Given the description of an element on the screen output the (x, y) to click on. 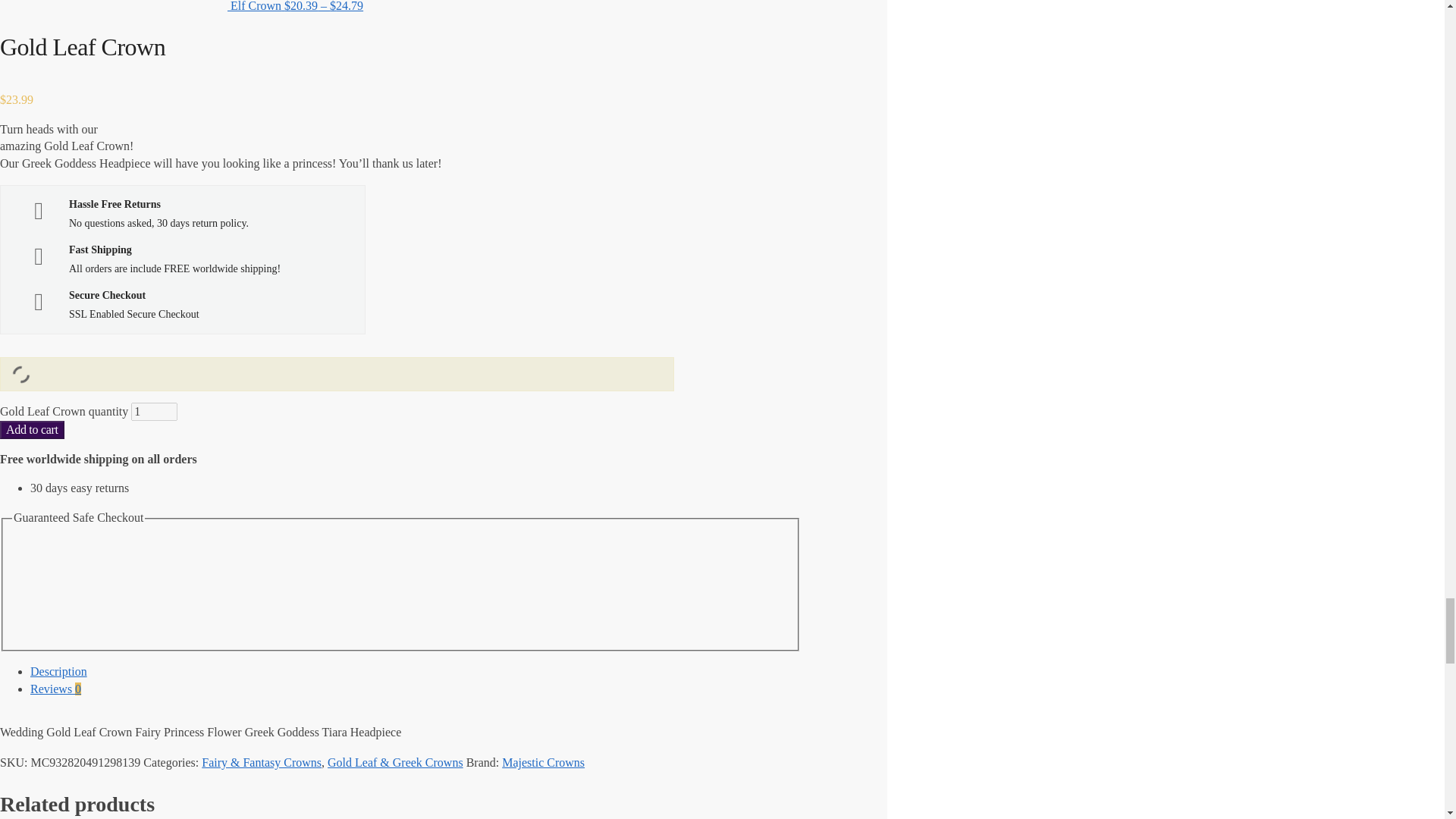
1 (154, 411)
